Given the description of an element on the screen output the (x, y) to click on. 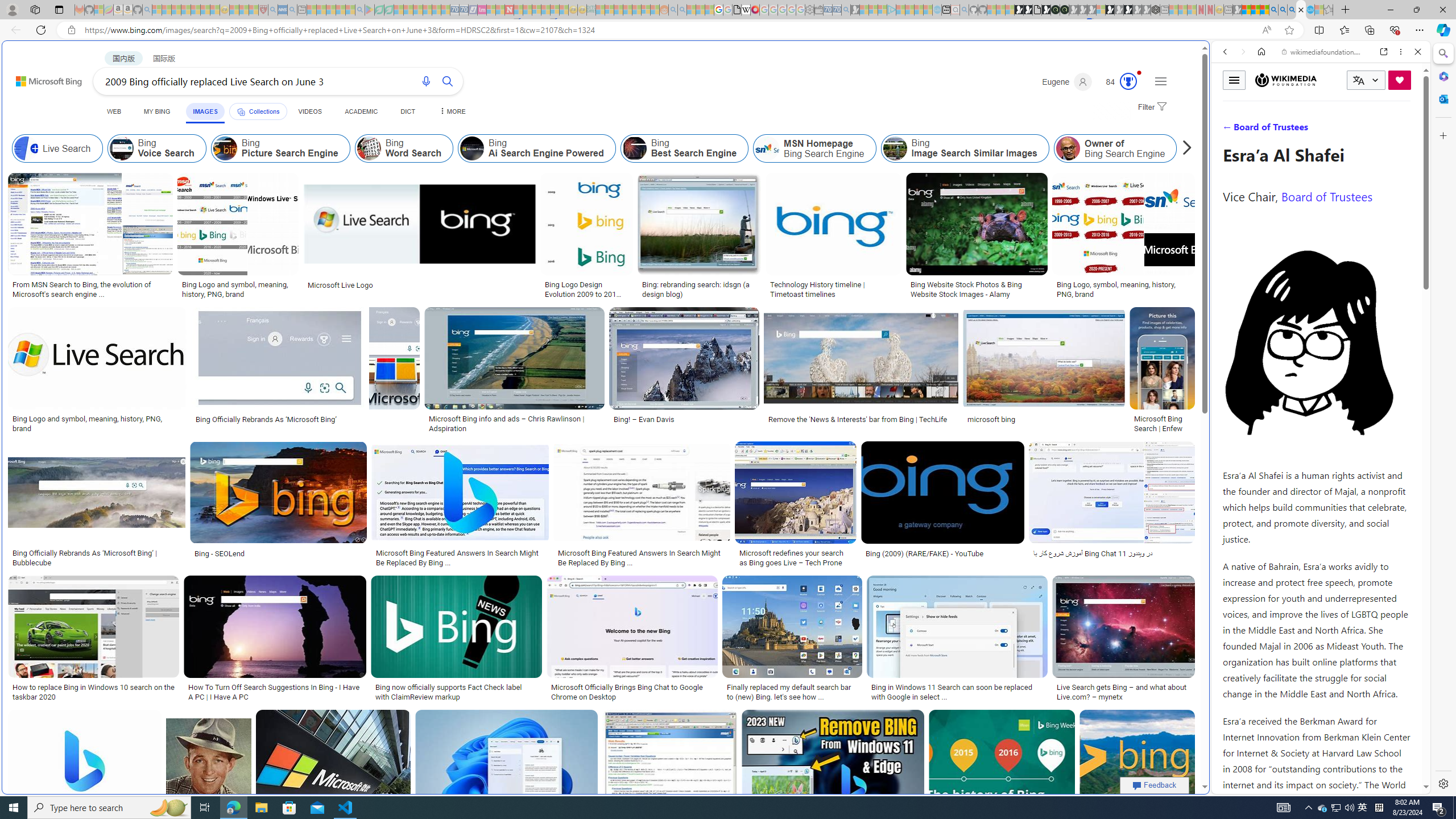
Class: b_serphb (1404, 130)
Back to Bing search (41, 78)
Bing: rebranding search: idsgn (a design blog) (699, 289)
Bing Voice Search (156, 148)
Animation (1139, 72)
Kinda Frugal - MSN - Sleeping (636, 9)
MSNBC - MSN - Sleeping (600, 9)
Owner of Bing Search Engine (1115, 148)
14 Common Myths Debunked By Scientific Facts - Sleeping (527, 9)
